Given the description of an element on the screen output the (x, y) to click on. 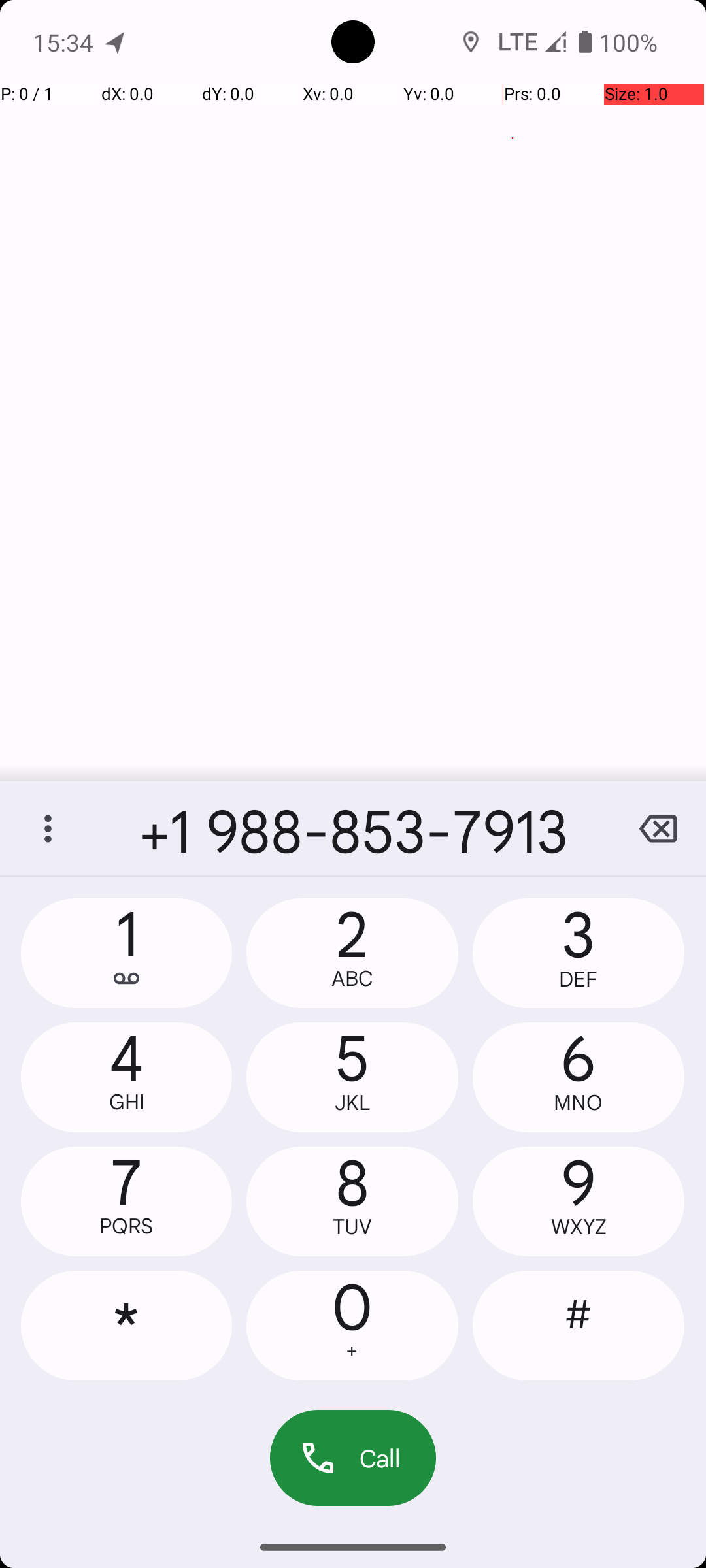
+1 988-853-7913 Element type: android.widget.EditText (352, 828)
